Given the description of an element on the screen output the (x, y) to click on. 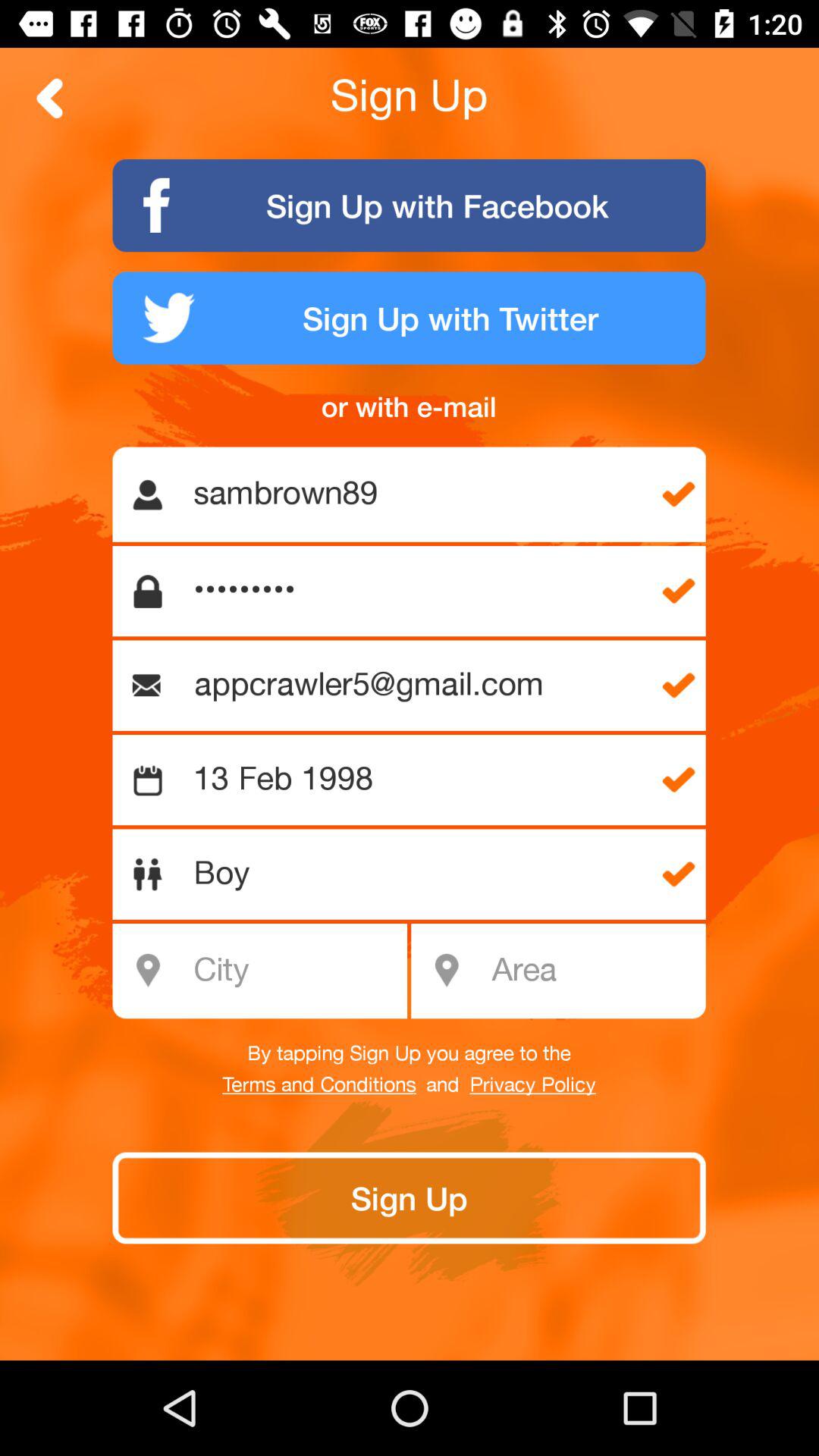
turn off icon at the bottom right corner (593, 970)
